Given the description of an element on the screen output the (x, y) to click on. 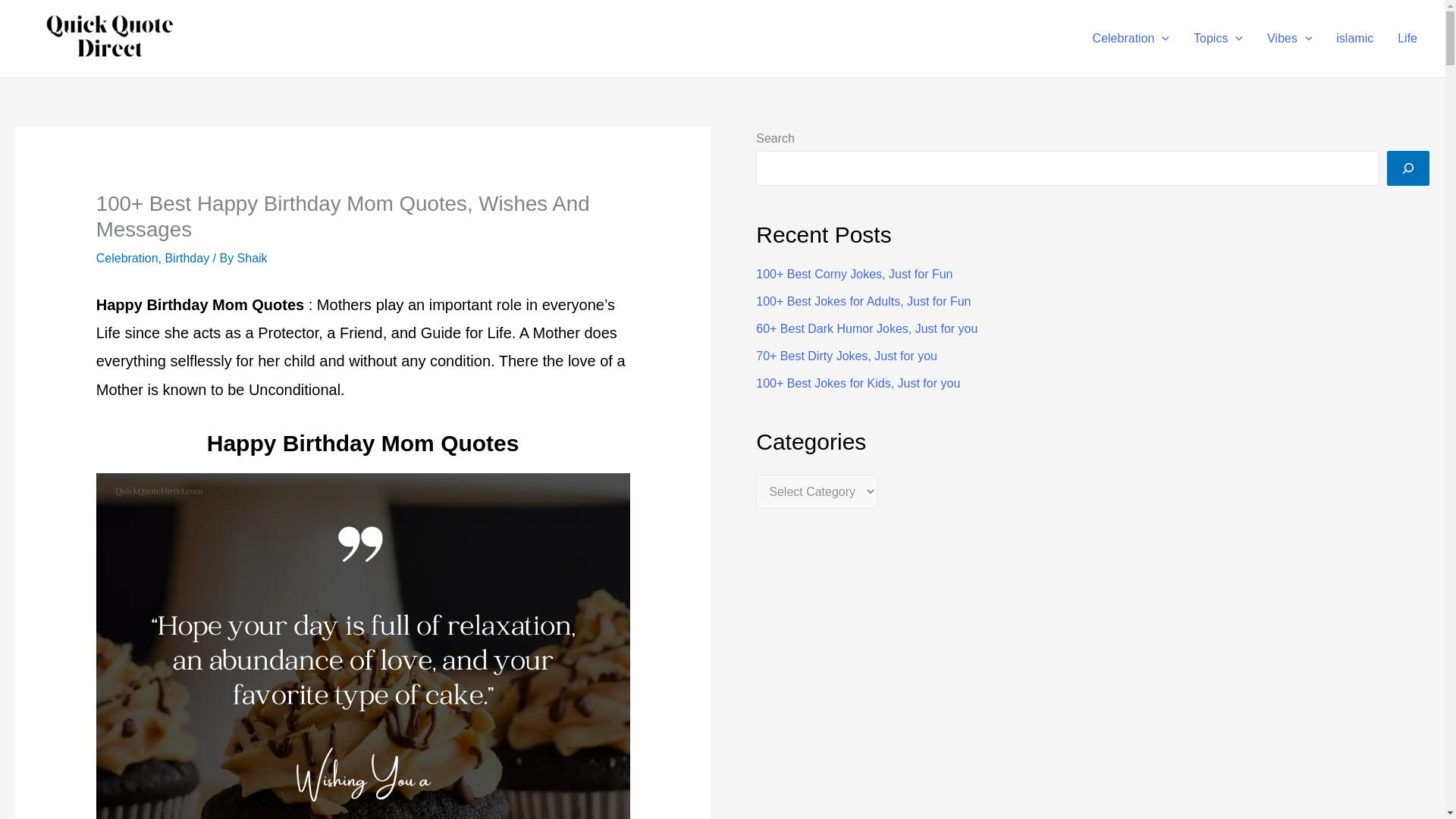
Vibes (1289, 38)
Celebration (127, 257)
Shaik (252, 257)
islamic (1354, 38)
View all posts by Shaik (252, 257)
Celebration (1130, 38)
Birthday (186, 257)
Topics (1217, 38)
